Given the description of an element on the screen output the (x, y) to click on. 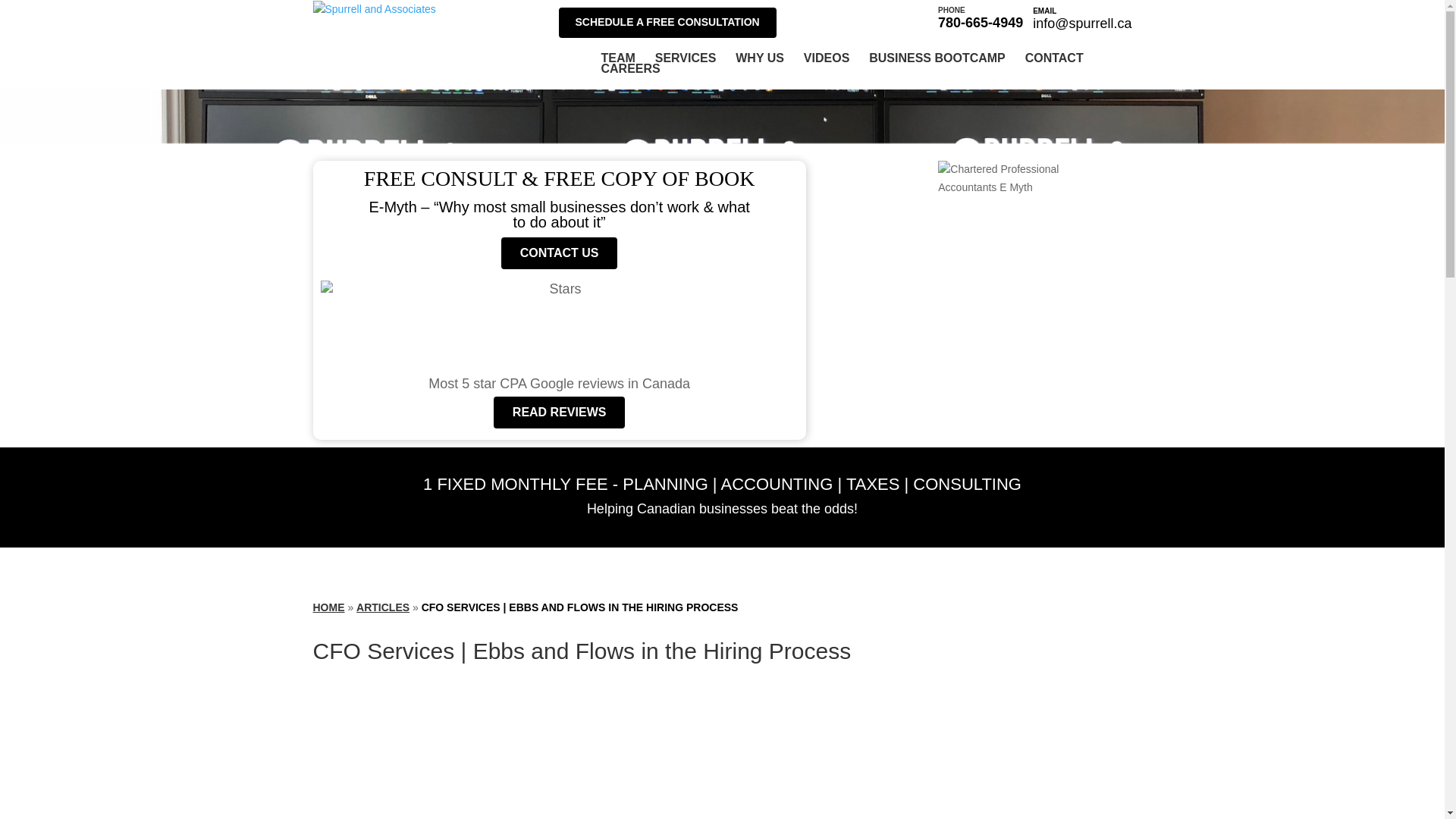
SCHEDULE A FREE CONSULTATION (666, 22)
READ REVIEWS (559, 412)
ARTICLES (382, 607)
WHY US (759, 58)
HOME (328, 607)
TEAM (616, 58)
CAREERS (980, 16)
SERVICES (629, 68)
CONTACT (685, 58)
BUSINESS BOOTCAMP (1054, 58)
VIDEOS (937, 58)
CONTACT US (825, 58)
